Given the description of an element on the screen output the (x, y) to click on. 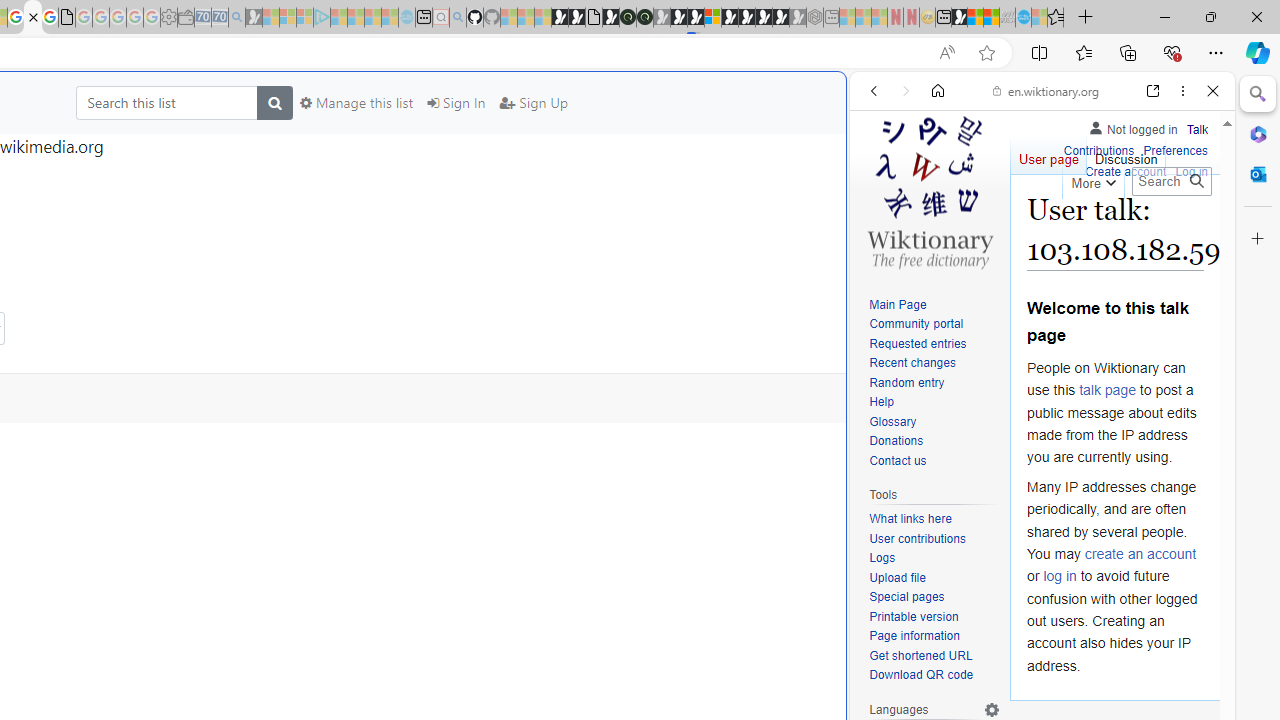
Tabs you've opened (276, 265)
Contact us (934, 461)
Visit the main page (929, 190)
Search this list (166, 102)
Sign in to your account (712, 17)
Requested entries (917, 343)
create an account (1140, 553)
More (1092, 179)
User contributions (917, 538)
Glossary (934, 421)
Language settings (992, 709)
